Given the description of an element on the screen output the (x, y) to click on. 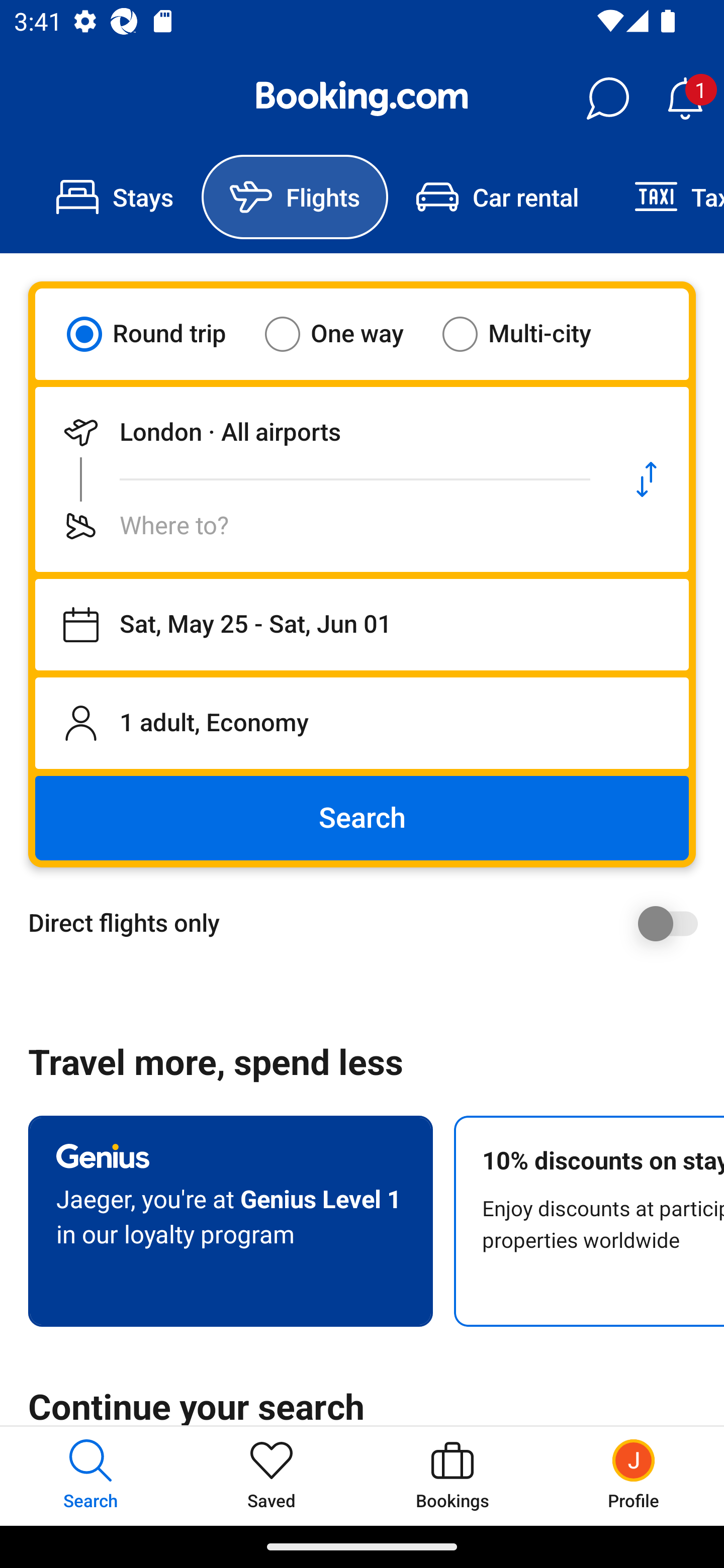
Messages (607, 98)
Notifications (685, 98)
Stays (114, 197)
Flights (294, 197)
Car rental (497, 197)
Taxi (665, 197)
One way (346, 333)
Multi-city (528, 333)
Departing from London · All airports (319, 432)
Swap departure location and destination (646, 479)
Flying to  (319, 525)
Departing on Sat, May 25, returning on Sat, Jun 01 (361, 624)
1 adult, Economy (361, 722)
Search (361, 818)
Direct flights only (369, 923)
Saved (271, 1475)
Bookings (452, 1475)
Profile (633, 1475)
